Given the description of an element on the screen output the (x, y) to click on. 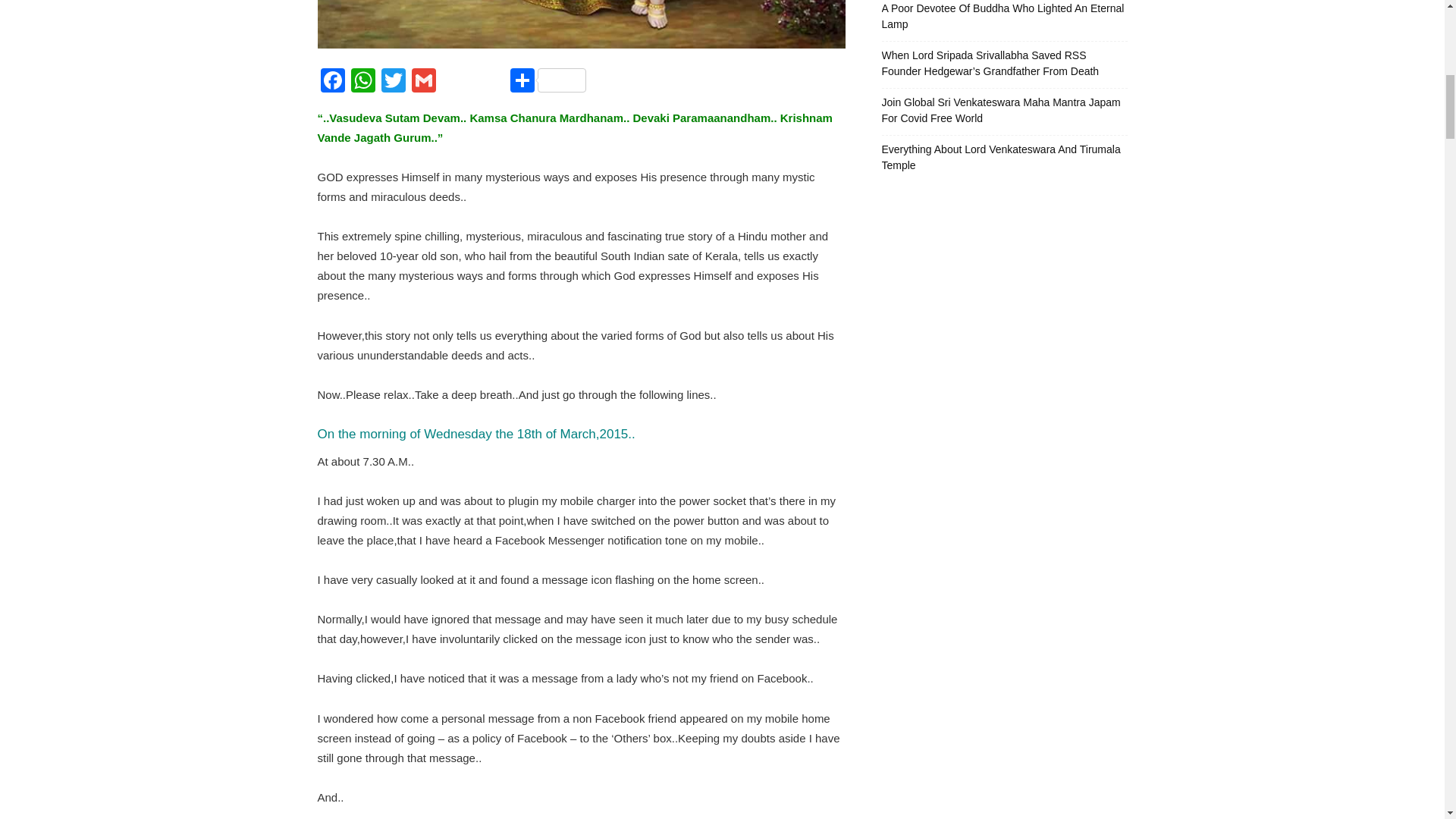
WhatsApp (362, 81)
Twitter (392, 81)
Share (547, 81)
Twitter (392, 81)
Facebook (332, 81)
Yashoda With Lord Krishna (580, 24)
Gmail (422, 81)
WhatsApp (362, 81)
Facebook (332, 81)
Gmail (422, 81)
